Given the description of an element on the screen output the (x, y) to click on. 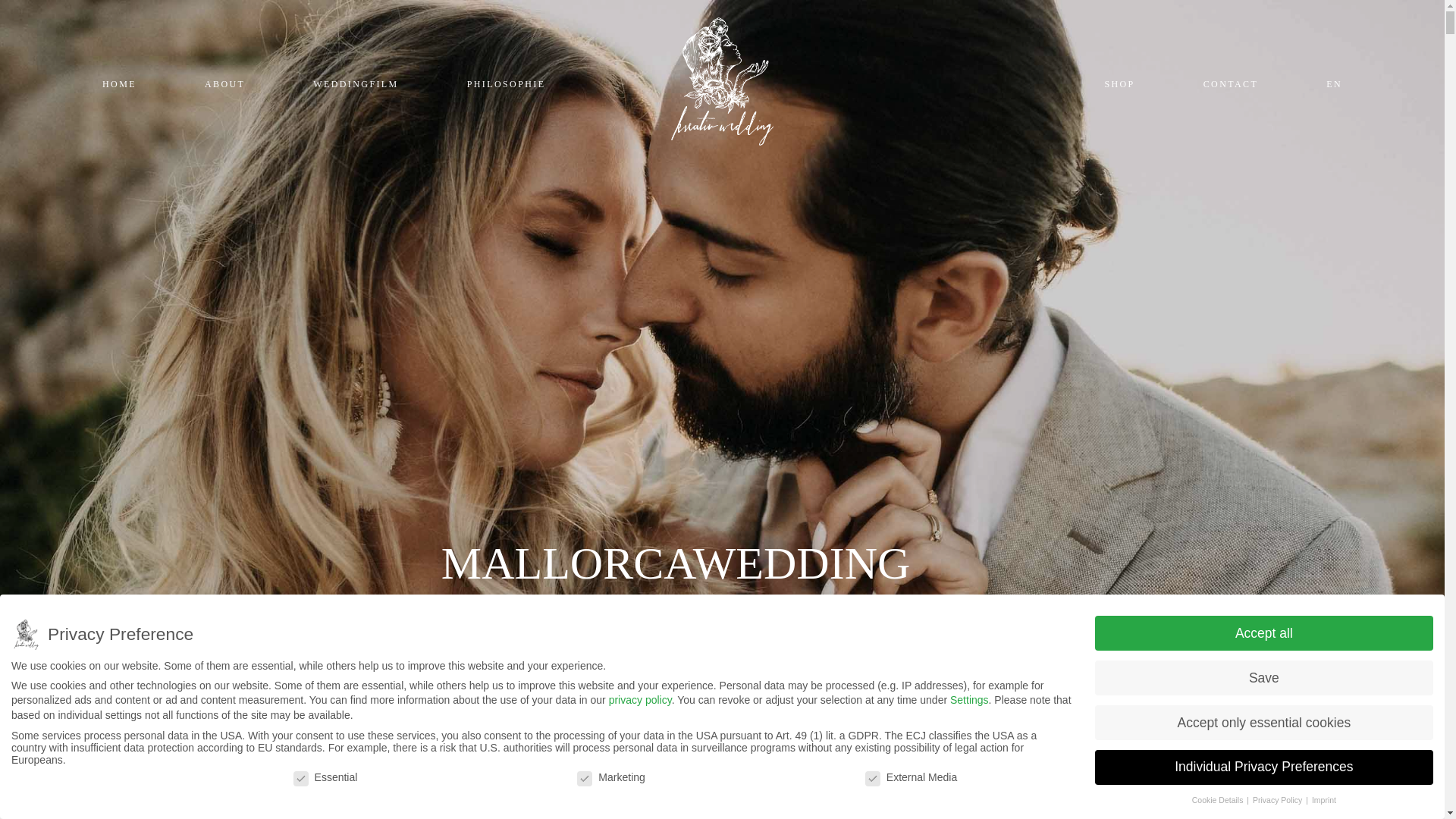
CONTACT (1231, 84)
EN (1334, 84)
WEDDINGFILM (355, 84)
EN (1334, 84)
SHOP (1118, 84)
PHILOSOPHIE (506, 84)
HOME (118, 84)
ABOUT (224, 84)
